Given the description of an element on the screen output the (x, y) to click on. 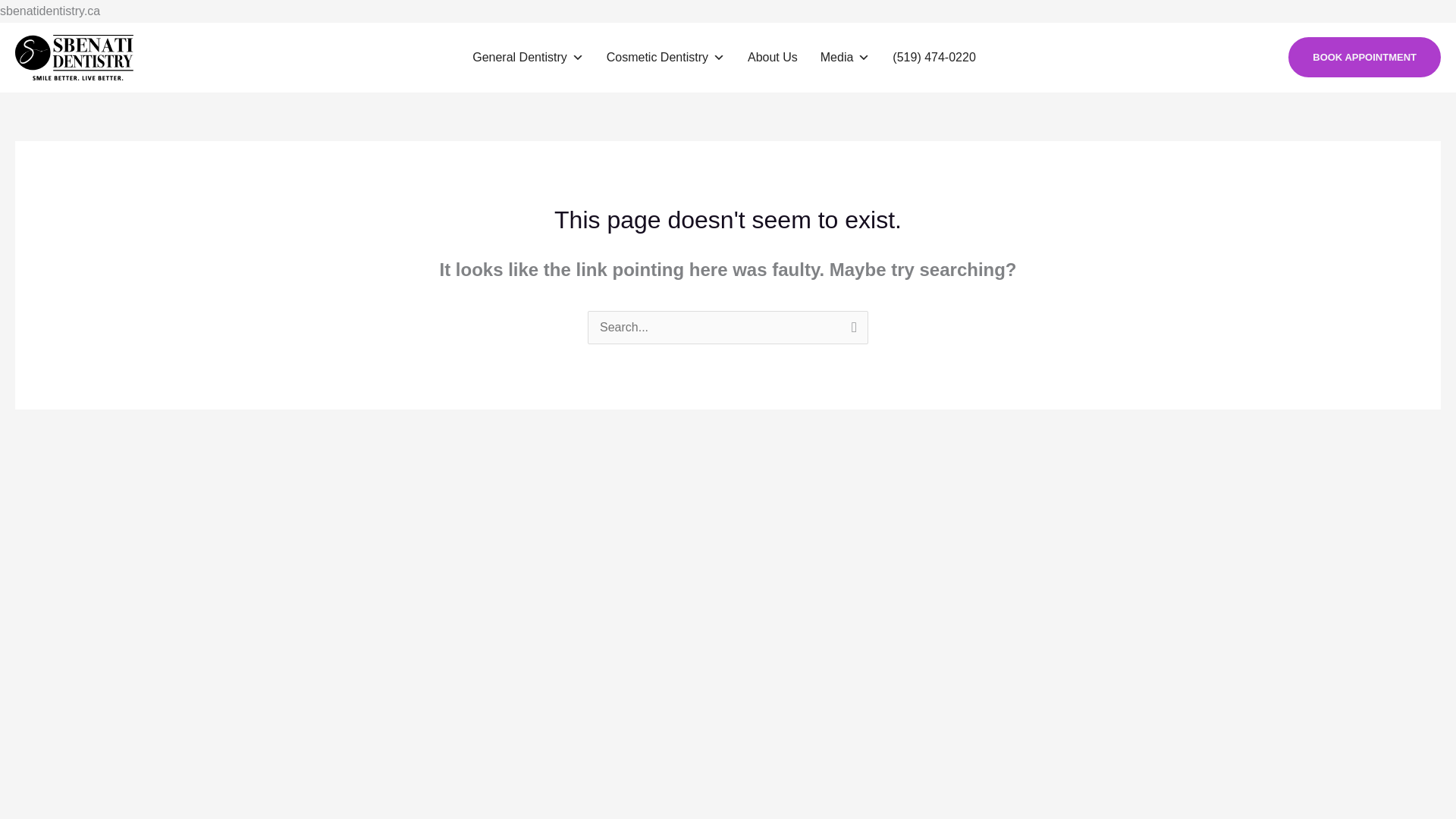
General Dentistry (527, 57)
BOOK APPOINTMENT (1364, 56)
About Us (772, 57)
Media (844, 57)
Cosmetic Dentistry (665, 57)
